Given the description of an element on the screen output the (x, y) to click on. 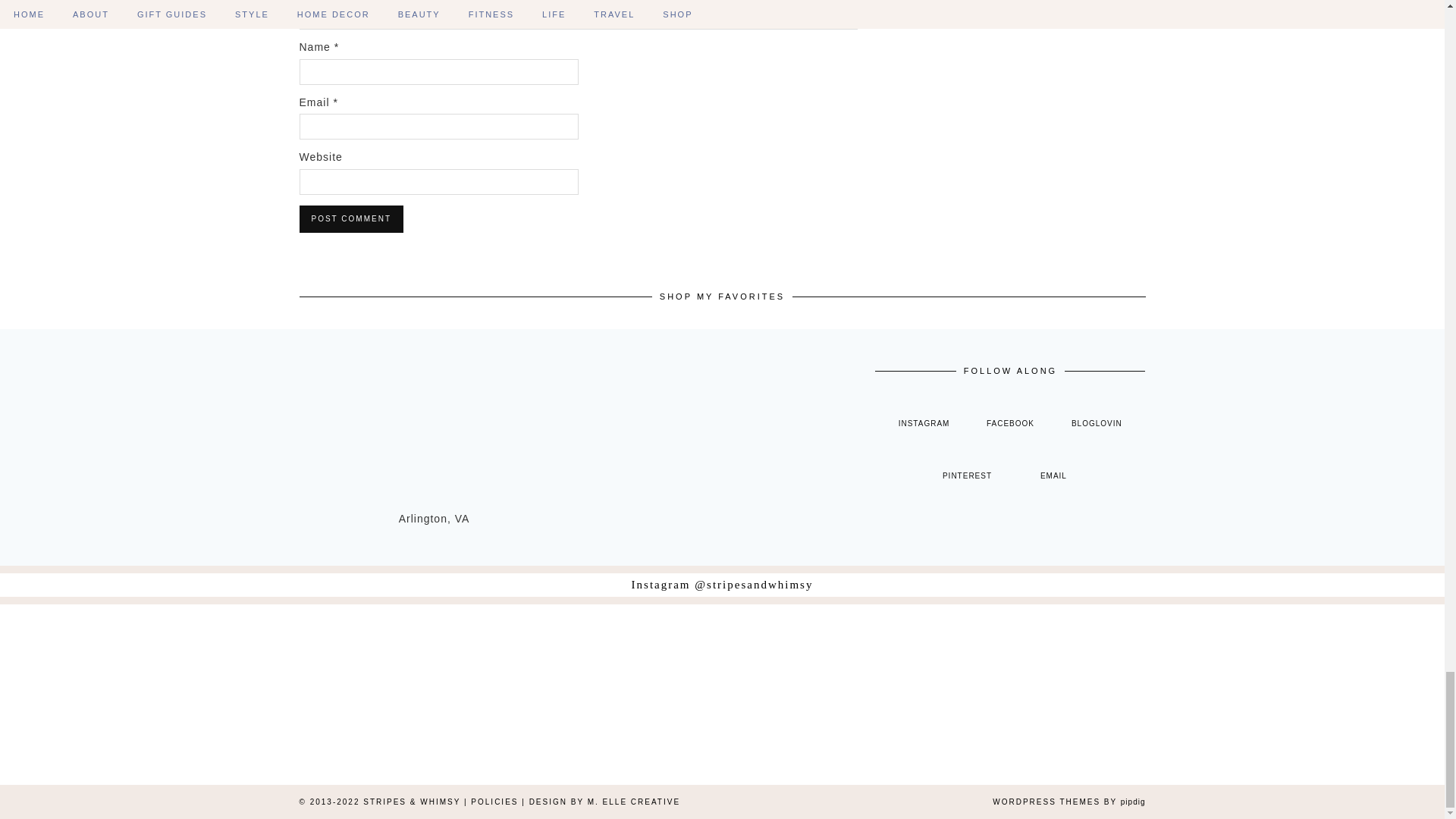
Post Comment (350, 218)
